Given the description of an element on the screen output the (x, y) to click on. 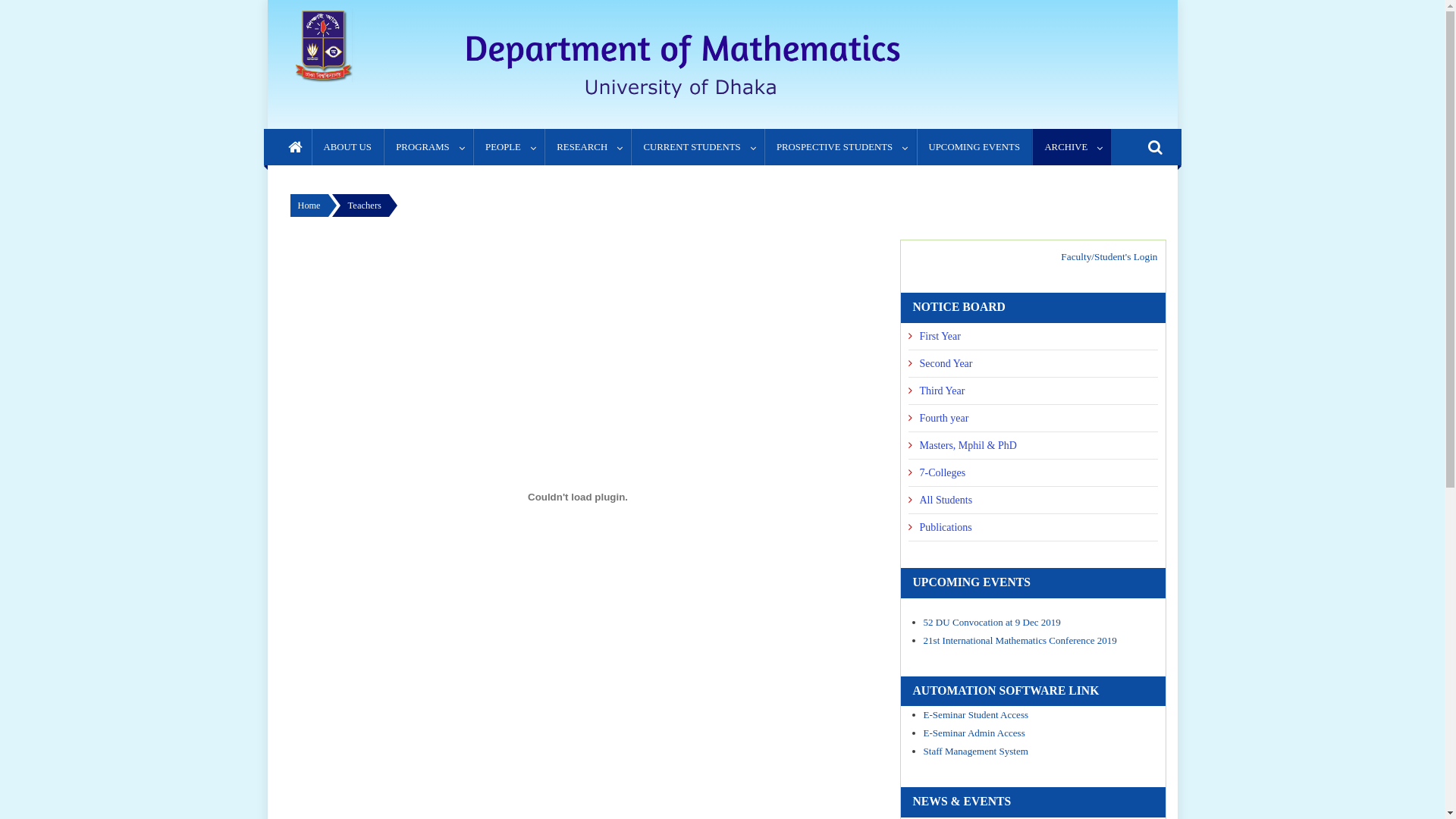
Fourth year Element type: text (1032, 418)
ABOUT US Element type: text (346, 146)
PROSPECTIVE STUDENTS Element type: text (840, 146)
52 DU Convocation at 9 Dec 2019 Element type: text (991, 621)
Faculty/Student's Login Element type: text (1108, 256)
ARCHIVE Element type: text (1071, 146)
First Year Element type: text (1032, 336)
E-Seminar Admin Access Element type: text (974, 732)
Search Element type: text (1133, 202)
21st International Mathematics Conference 2019 Element type: text (1020, 640)
Third Year Element type: text (1032, 390)
All Students Element type: text (1032, 500)
7-Colleges Element type: text (1032, 472)
Second Year Element type: text (1032, 363)
PROGRAMS Element type: text (427, 146)
RESEARCH Element type: text (587, 146)
PEOPLE Element type: text (508, 146)
Home Element type: text (308, 205)
Masters, Mphil & PhD Element type: text (1032, 445)
UPCOMING EVENTS Element type: text (974, 146)
CURRENT STUDENTS Element type: text (696, 146)
E-Seminar Student Access Element type: text (976, 714)
Publications Element type: text (1032, 527)
Staff Management System Element type: text (975, 750)
